Given the description of an element on the screen output the (x, y) to click on. 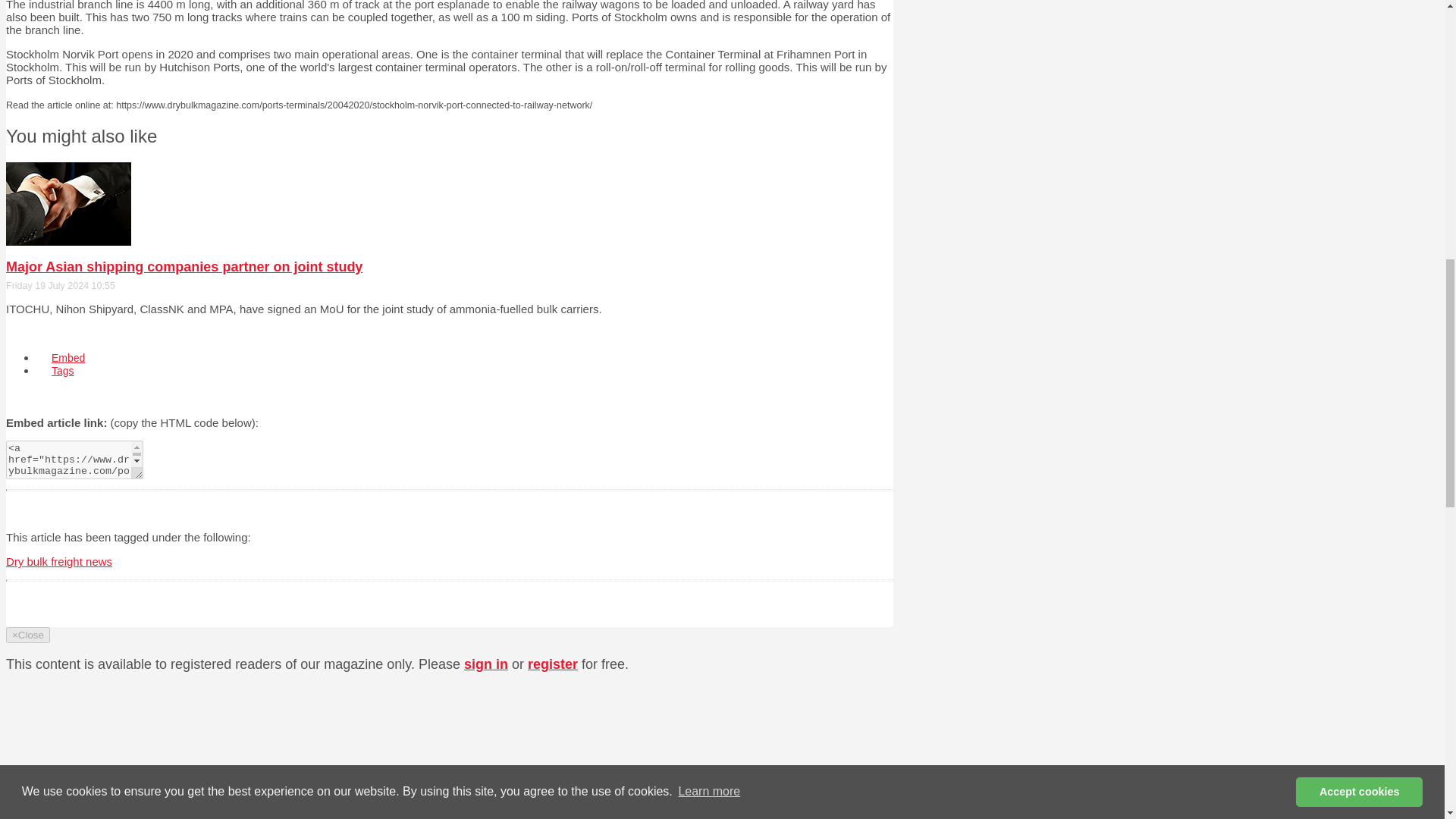
Tags (62, 370)
Dry bulk freight news (58, 561)
sign in (486, 663)
Embed (68, 357)
register (552, 663)
Major Asian shipping companies partner on joint study (183, 266)
3rd party ad content (774, 718)
